Given the description of an element on the screen output the (x, y) to click on. 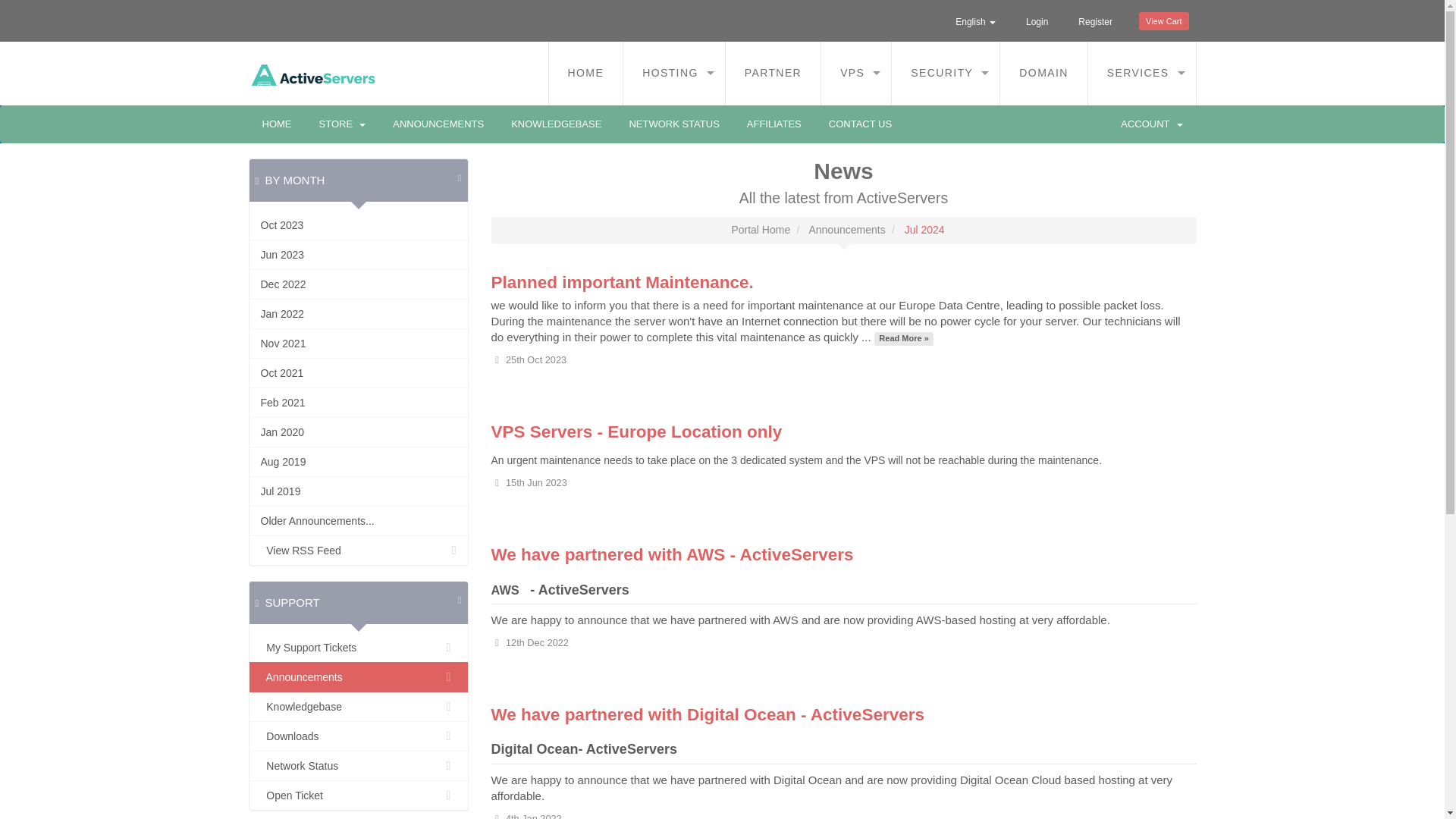
English (975, 21)
